Given the description of an element on the screen output the (x, y) to click on. 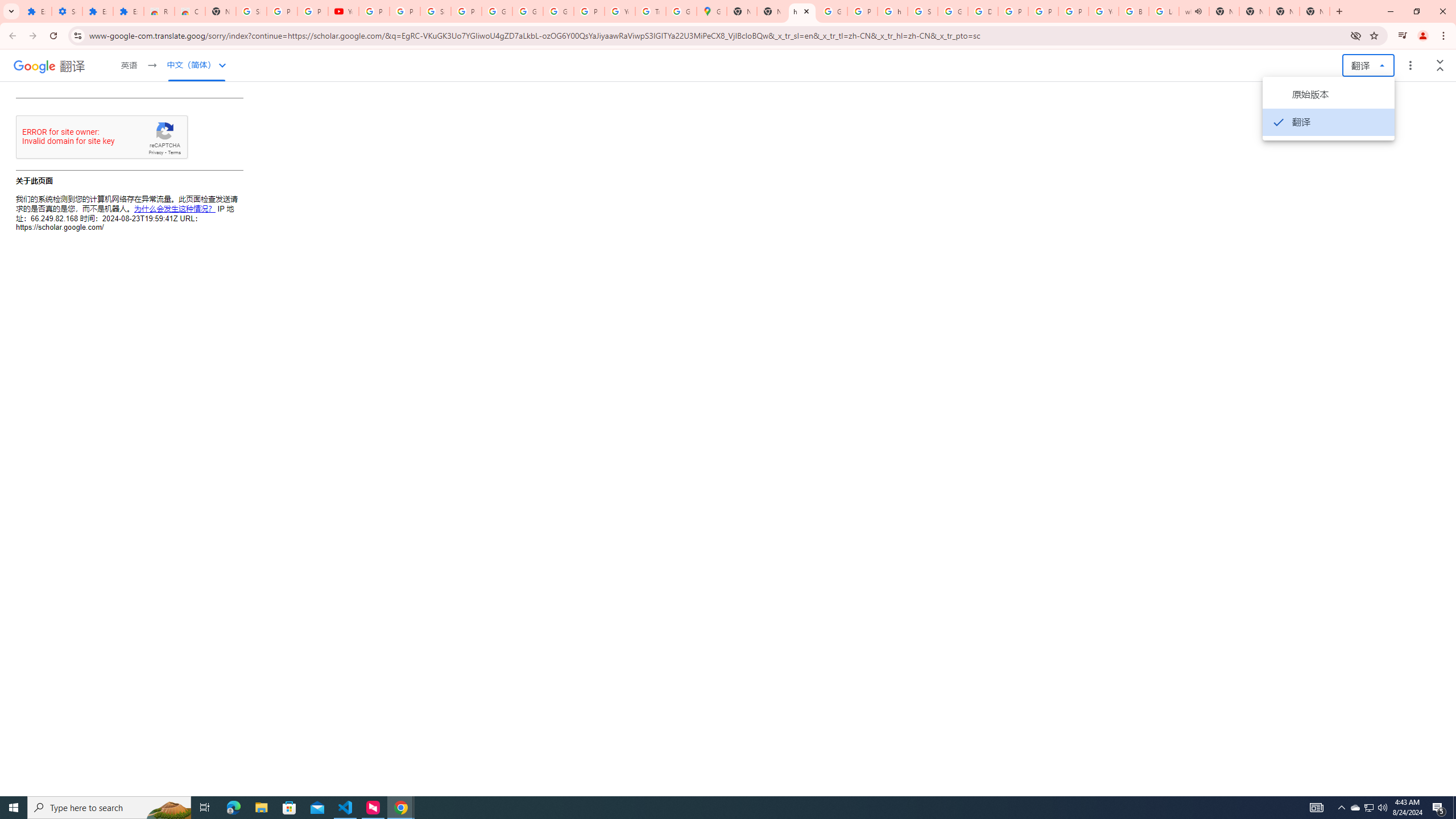
https://scholar.google.com/ (801, 11)
Privacy Help Center - Policies Help (1042, 11)
YouTube (619, 11)
Google Maps (711, 11)
YouTube (1103, 11)
Extensions (36, 11)
